Given the description of an element on the screen output the (x, y) to click on. 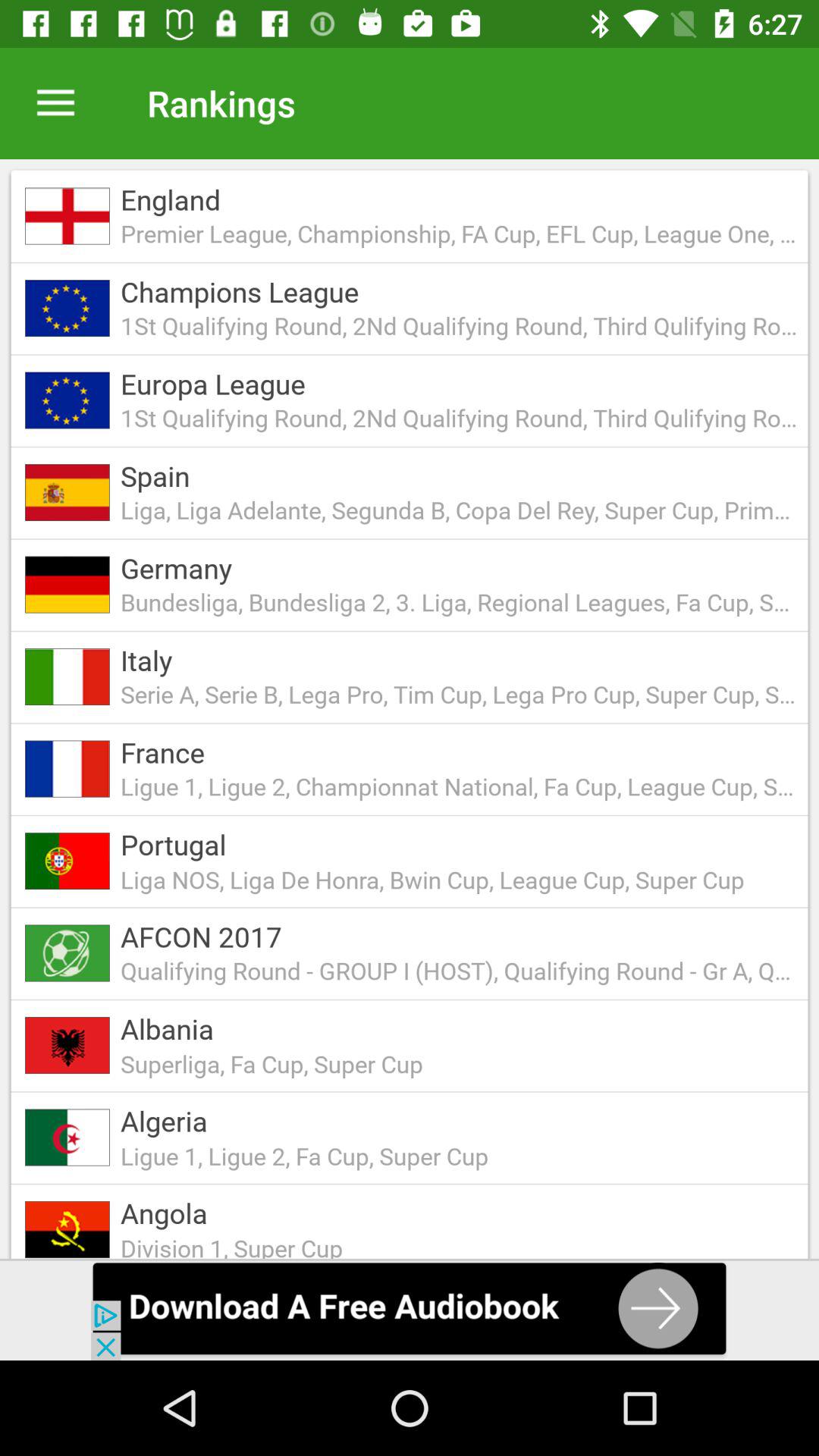
go to download audio option (409, 1310)
